Given the description of an element on the screen output the (x, y) to click on. 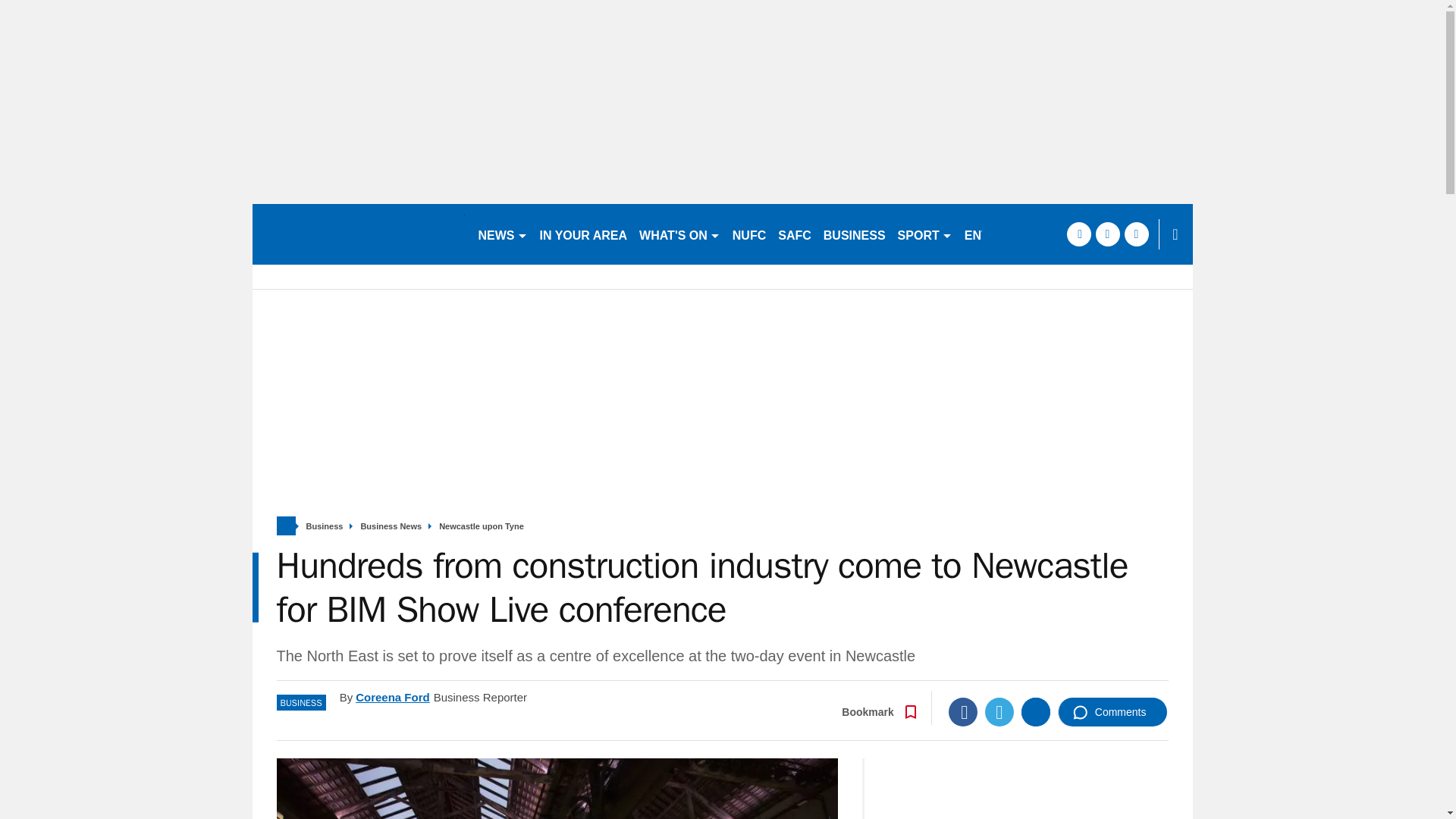
facebook (1077, 233)
instagram (1136, 233)
twitter (1106, 233)
BUSINESS (853, 233)
Twitter (999, 711)
nechronicle (357, 233)
Facebook (962, 711)
SPORT (924, 233)
Comments (1112, 711)
NEWS (501, 233)
